Given the description of an element on the screen output the (x, y) to click on. 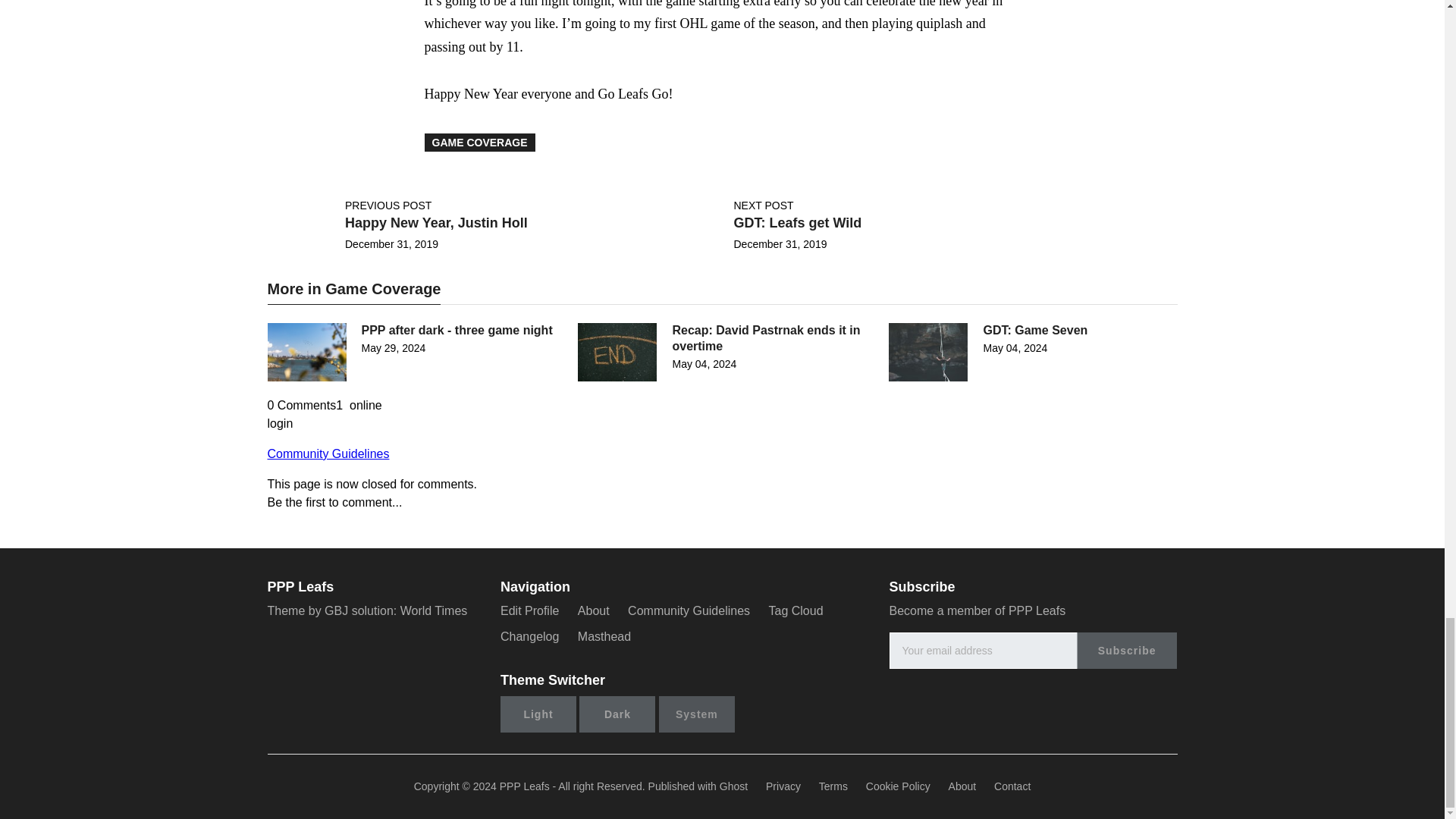
31 December, 2019 (391, 244)
04 May, 2024 (703, 363)
29 May, 2024 (393, 347)
04 May, 2024 (1014, 347)
31 December, 2019 (780, 244)
